Given the description of an element on the screen output the (x, y) to click on. 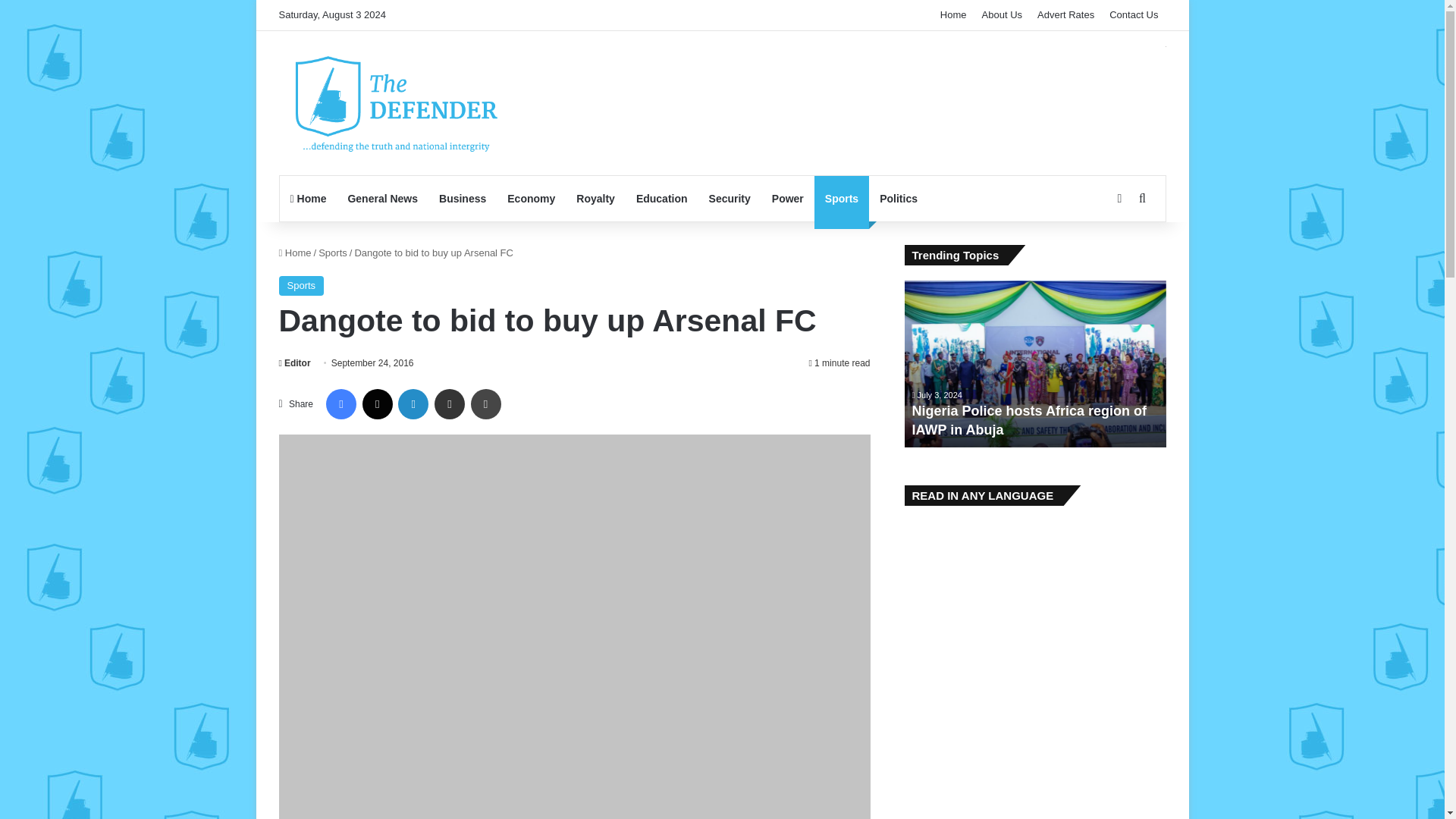
Economy (531, 198)
About Us (1001, 15)
Share via Email (448, 404)
Home (307, 198)
Editor (295, 362)
X (377, 404)
Share via Email (448, 404)
LinkedIn (412, 404)
Home (295, 252)
Facebook (341, 404)
Print (485, 404)
LinkedIn (412, 404)
Contact Us (1134, 15)
Advert Rates (1065, 15)
Education (662, 198)
